Given the description of an element on the screen output the (x, y) to click on. 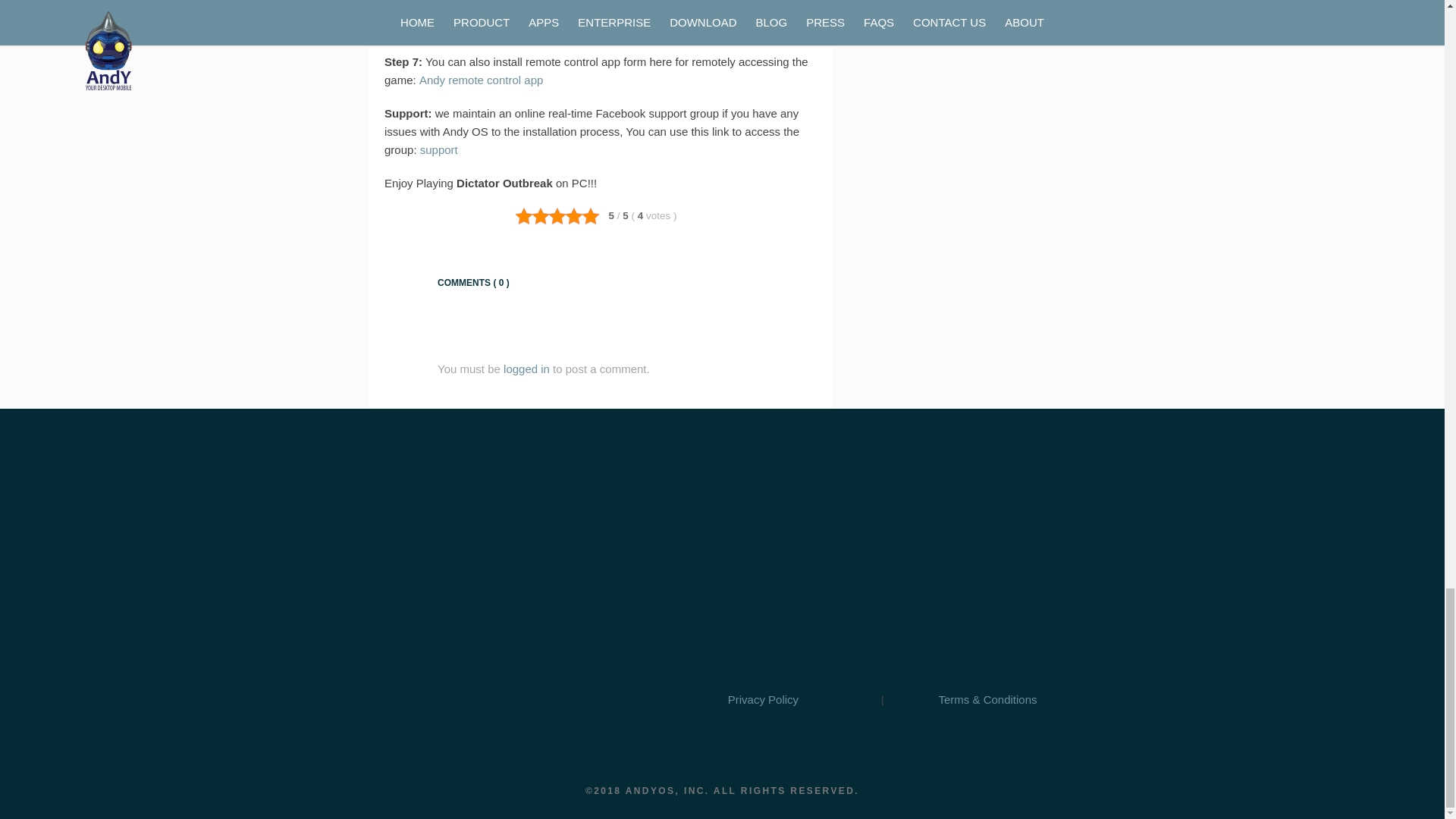
Andy remote control app (481, 79)
logged in (526, 368)
support (439, 149)
